Given the description of an element on the screen output the (x, y) to click on. 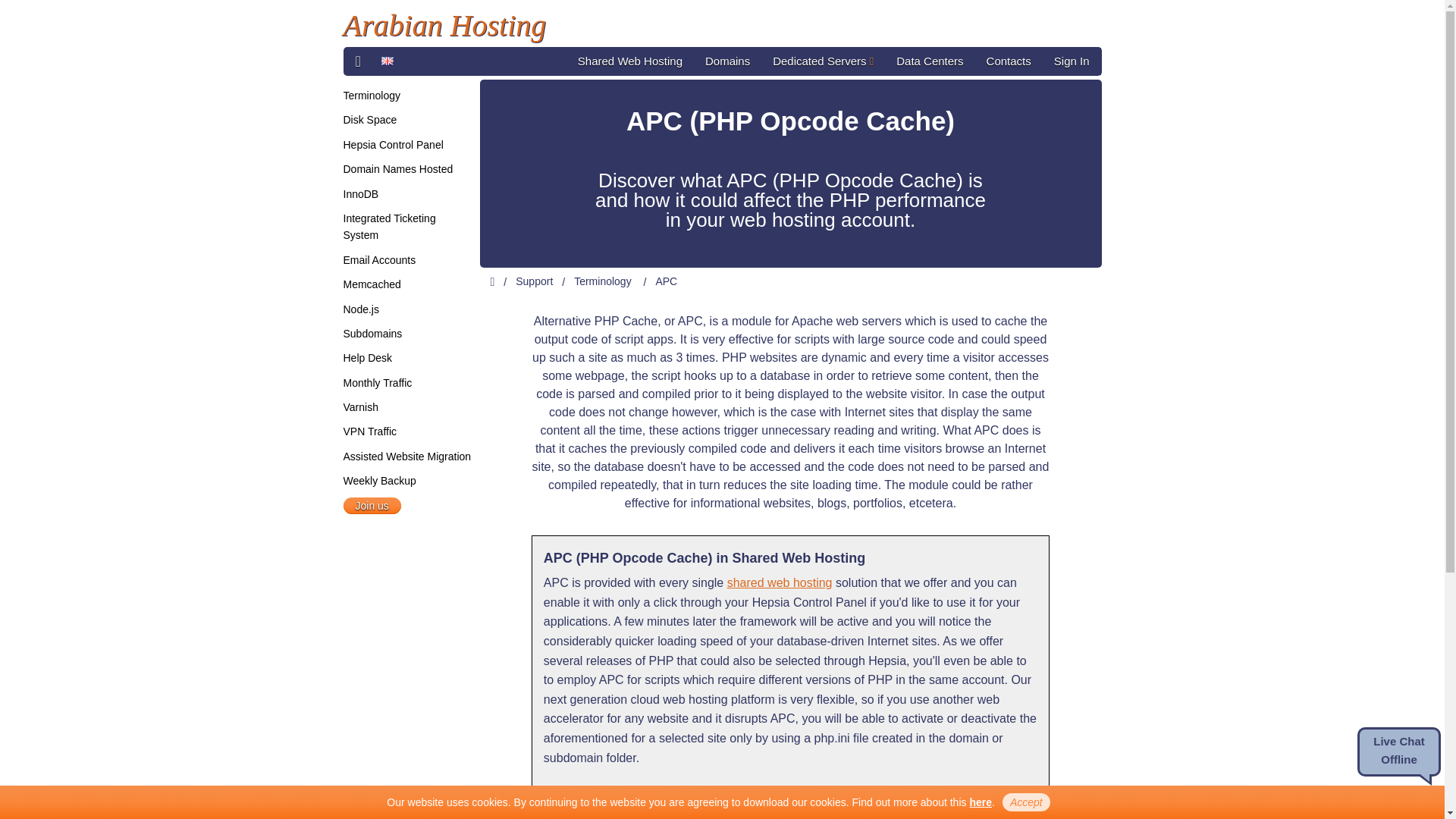
Shared Web Hosting (630, 61)
Hepsia Control Panel (392, 144)
Email Accounts (378, 259)
Varnish (359, 407)
Subdomains (371, 333)
Data Centers (929, 61)
Help Desk (366, 357)
Disk Space (369, 119)
Memcached (371, 284)
Weekly Backup (378, 480)
InnoDB (360, 193)
Join us (371, 505)
Node.js (360, 309)
Sign In (1071, 61)
VPN Traffic (369, 431)
